Given the description of an element on the screen output the (x, y) to click on. 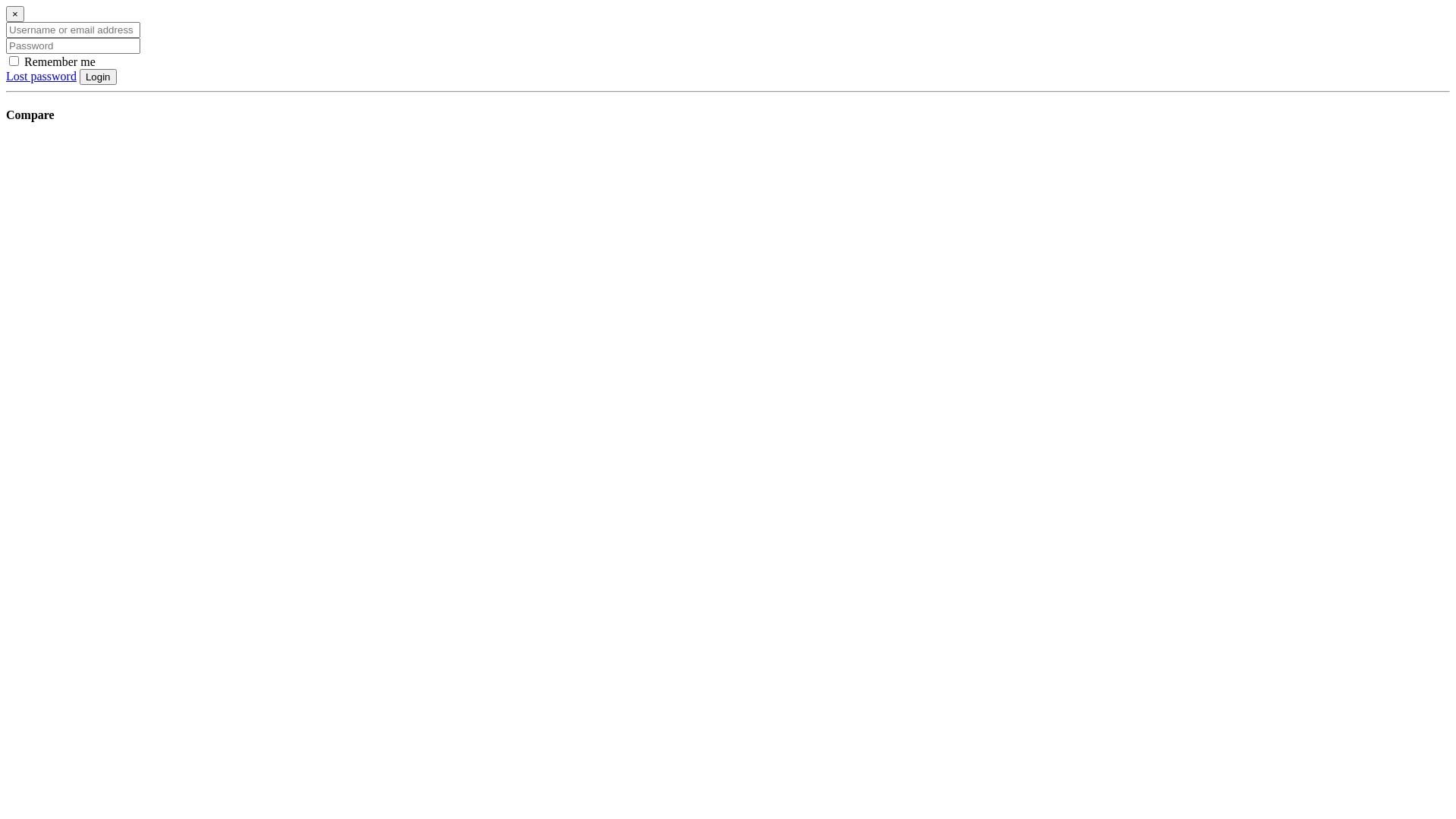
Login Element type: text (97, 76)
Lost password Element type: text (41, 75)
